Given the description of an element on the screen output the (x, y) to click on. 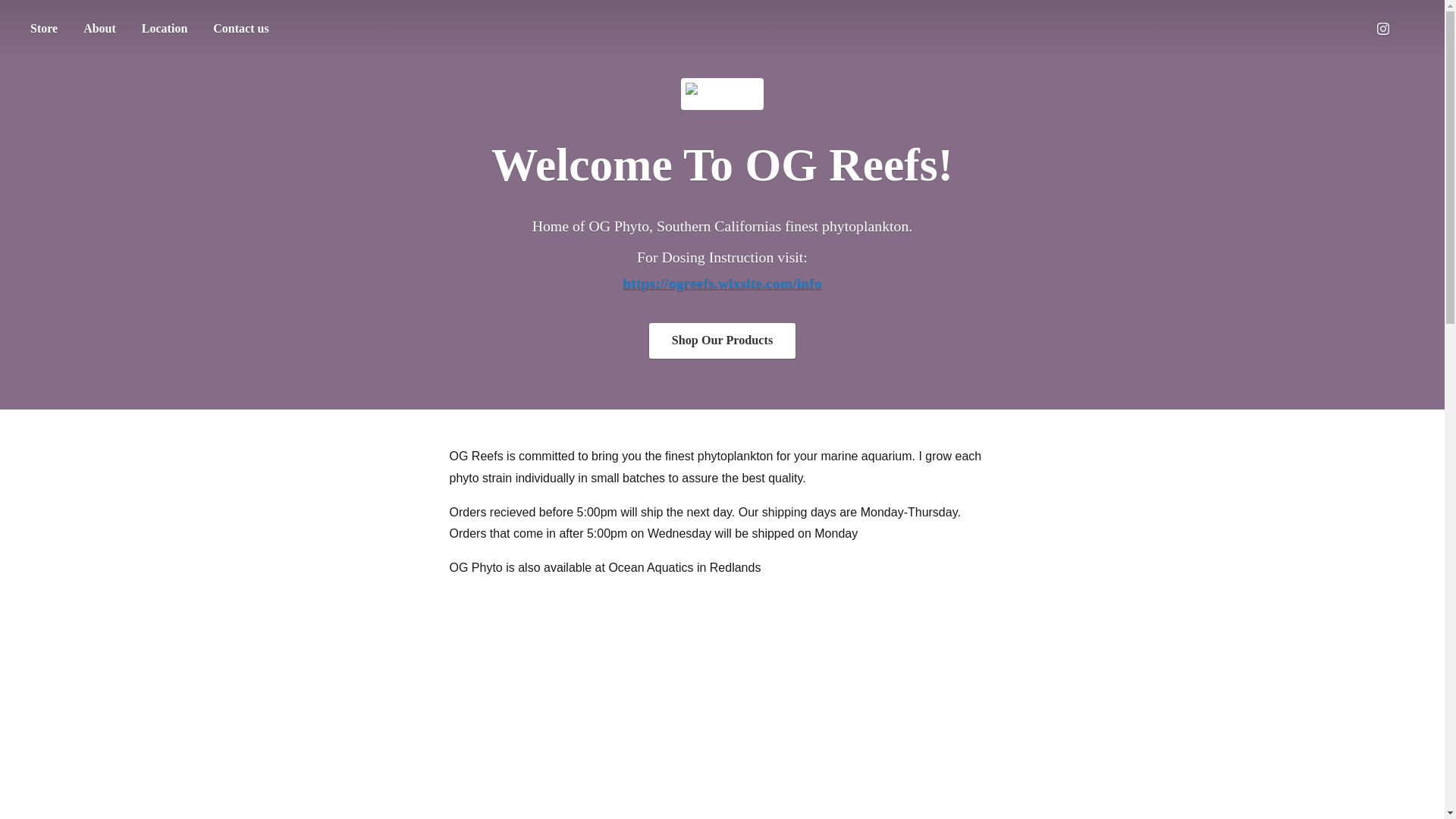
Contact us (240, 29)
About (99, 29)
Location (164, 29)
Store (43, 29)
Shop Our Products (722, 339)
